Given the description of an element on the screen output the (x, y) to click on. 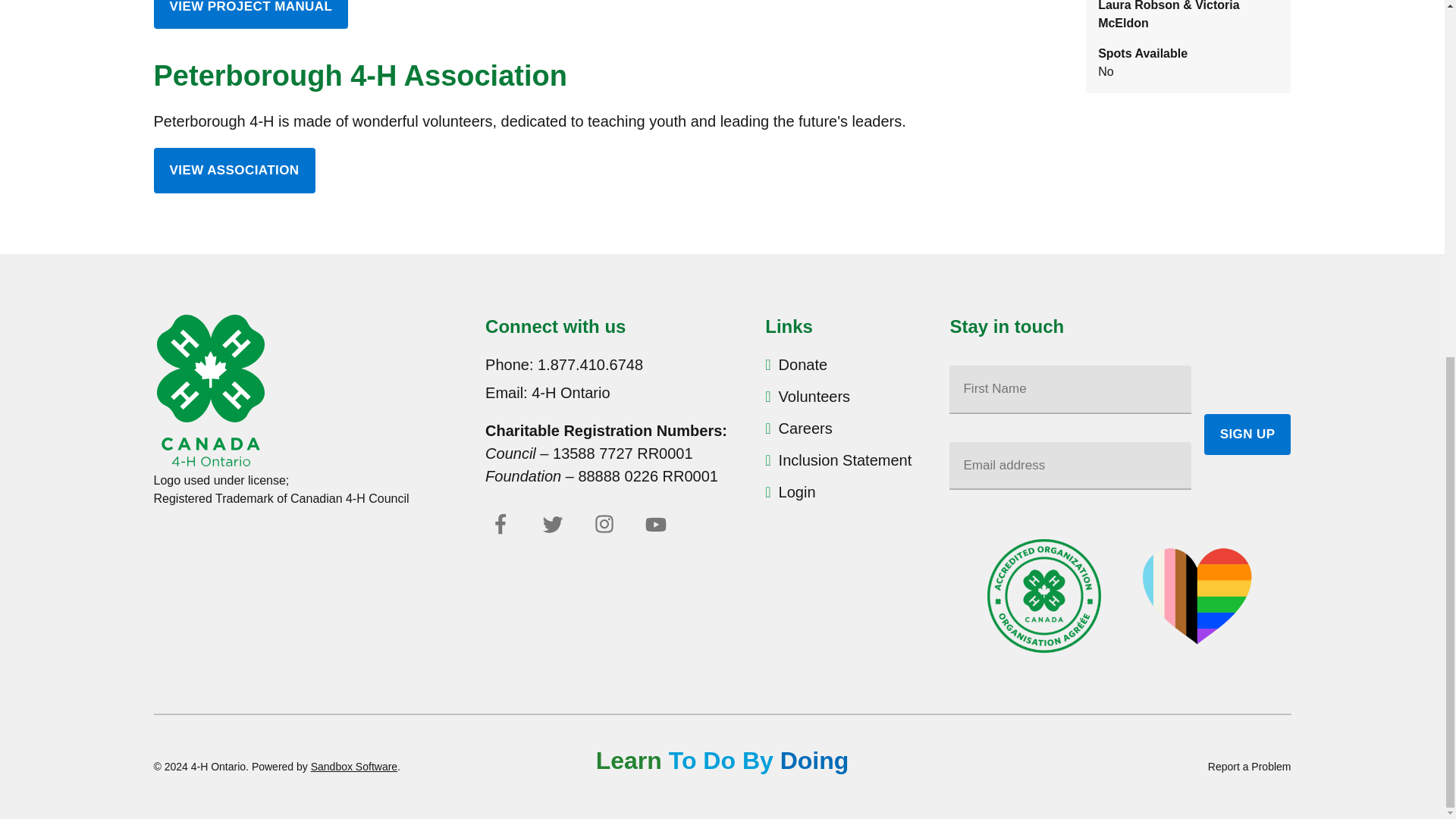
Sign up (1247, 434)
